Given the description of an element on the screen output the (x, y) to click on. 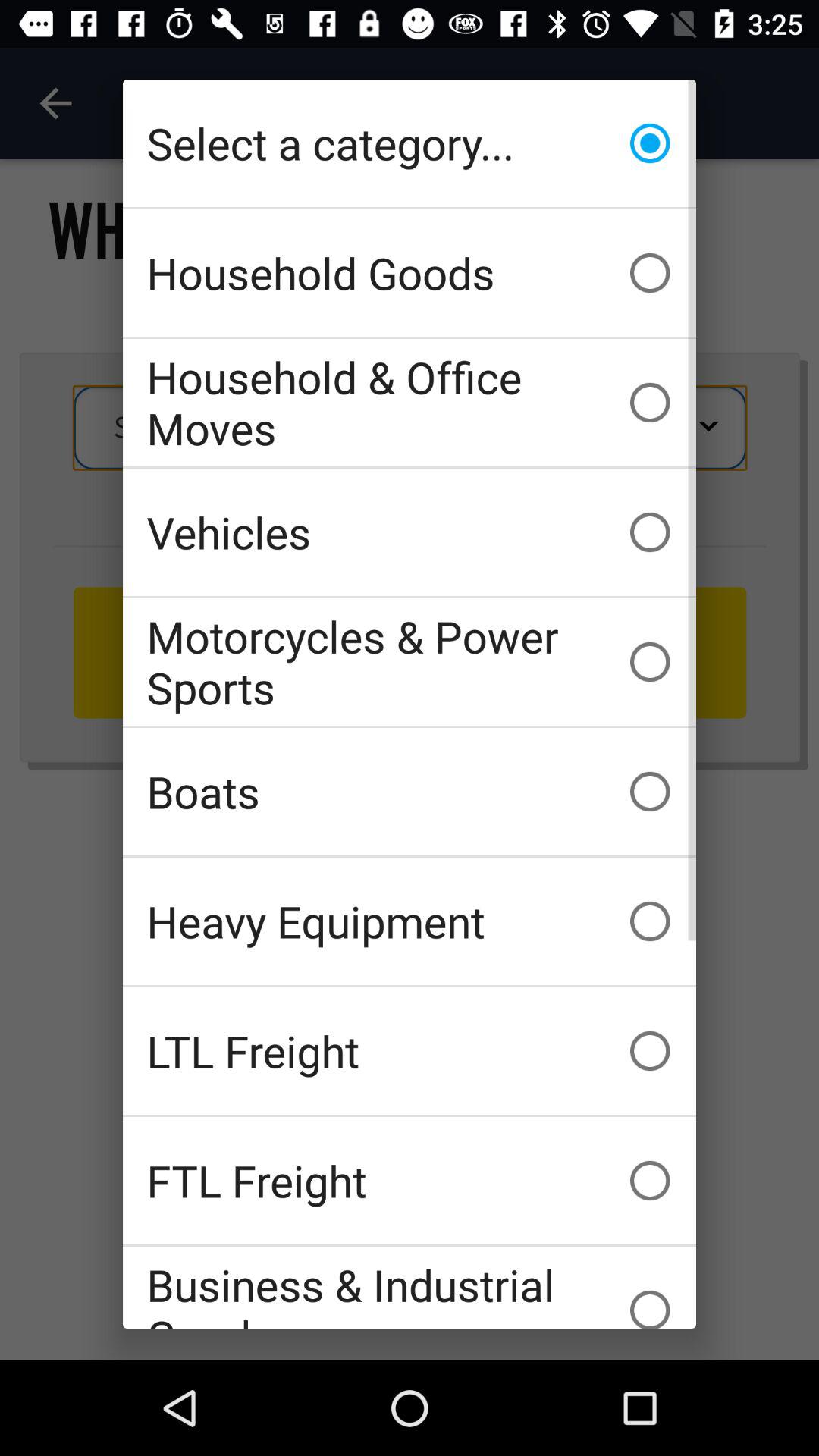
scroll until vehicles item (409, 532)
